Given the description of an element on the screen output the (x, y) to click on. 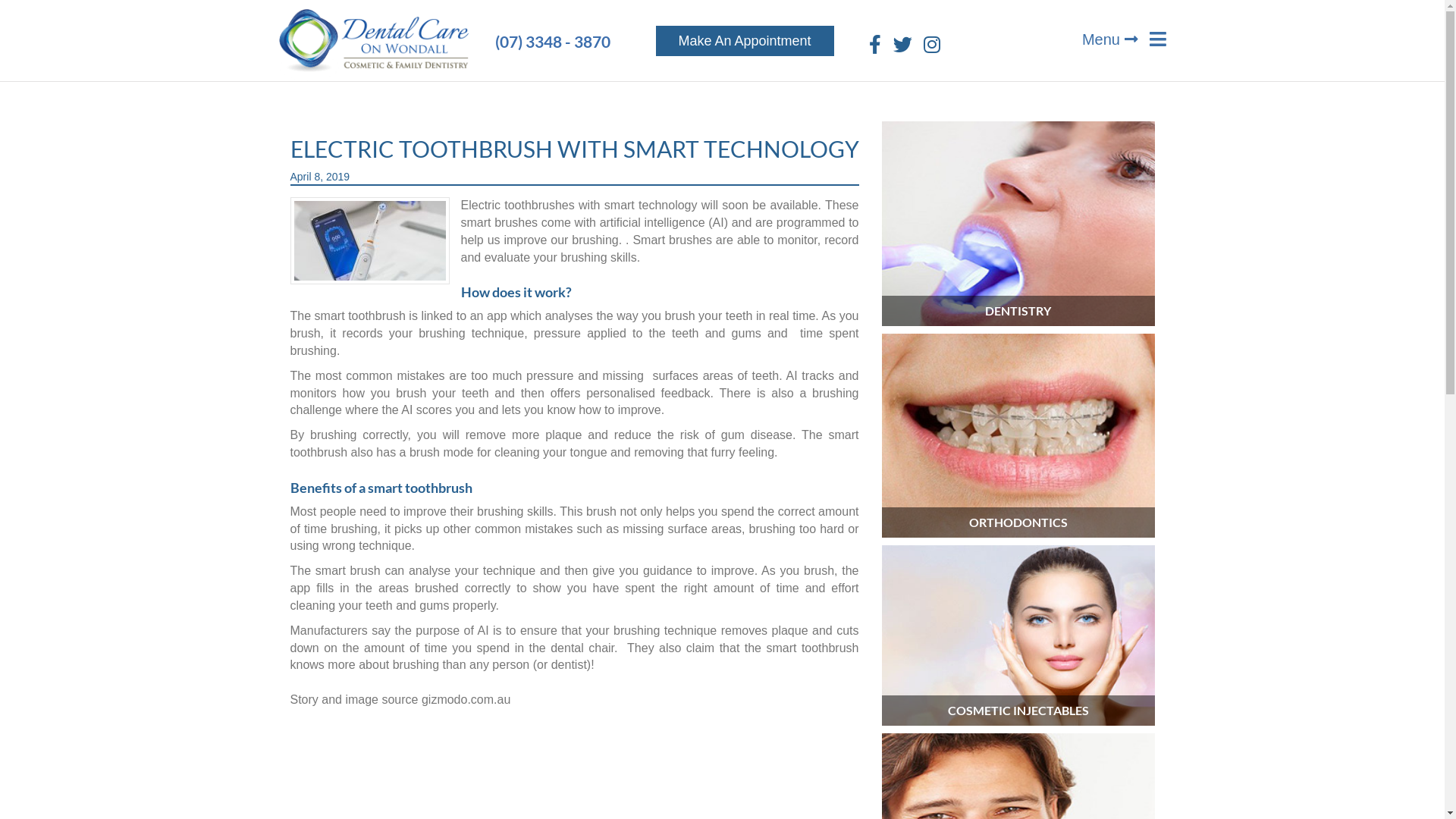
Facebook Element type: hover (874, 44)
Make An Appointment Element type: text (744, 40)
Menu Element type: text (1121, 32)
(07) 3348 - 3870 Element type: text (551, 41)
Twitter Element type: hover (902, 44)
Instagram Element type: hover (931, 44)
